Given the description of an element on the screen output the (x, y) to click on. 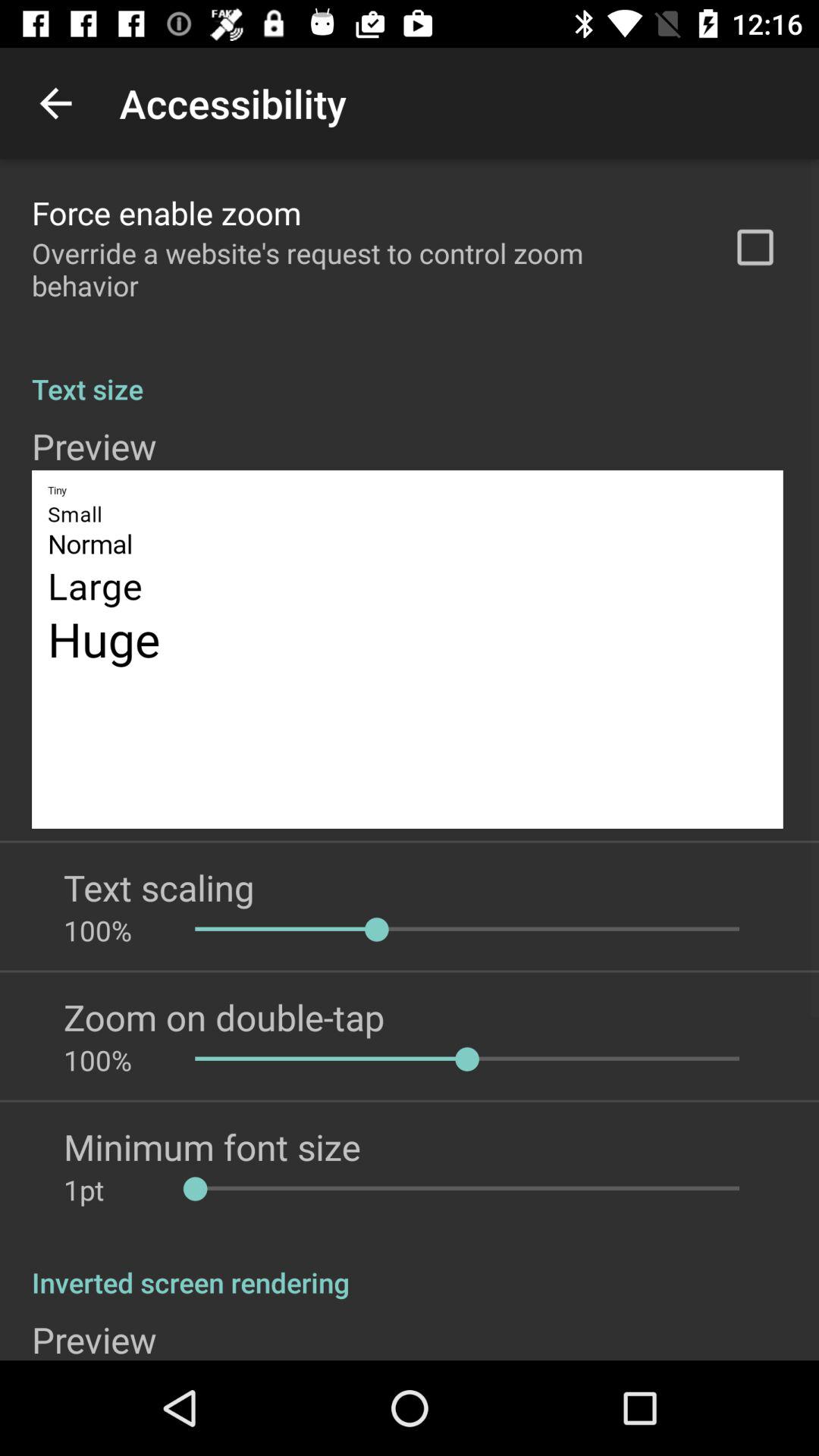
click app below 100% (211, 1146)
